Given the description of an element on the screen output the (x, y) to click on. 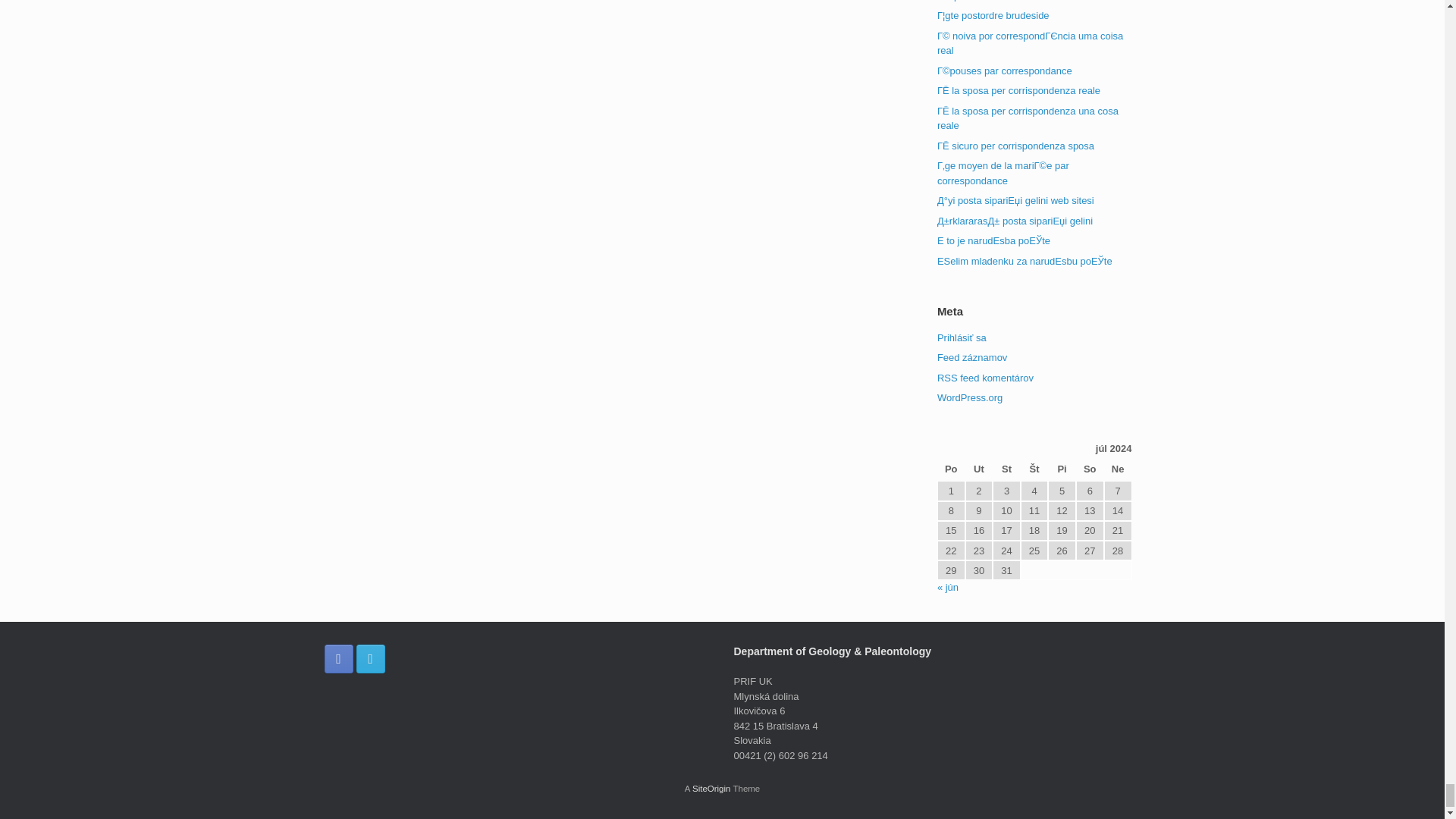
sobota (1089, 470)
piatok (1061, 470)
pondelok (951, 470)
utorok (978, 470)
streda (1006, 470)
